Given the description of an element on the screen output the (x, y) to click on. 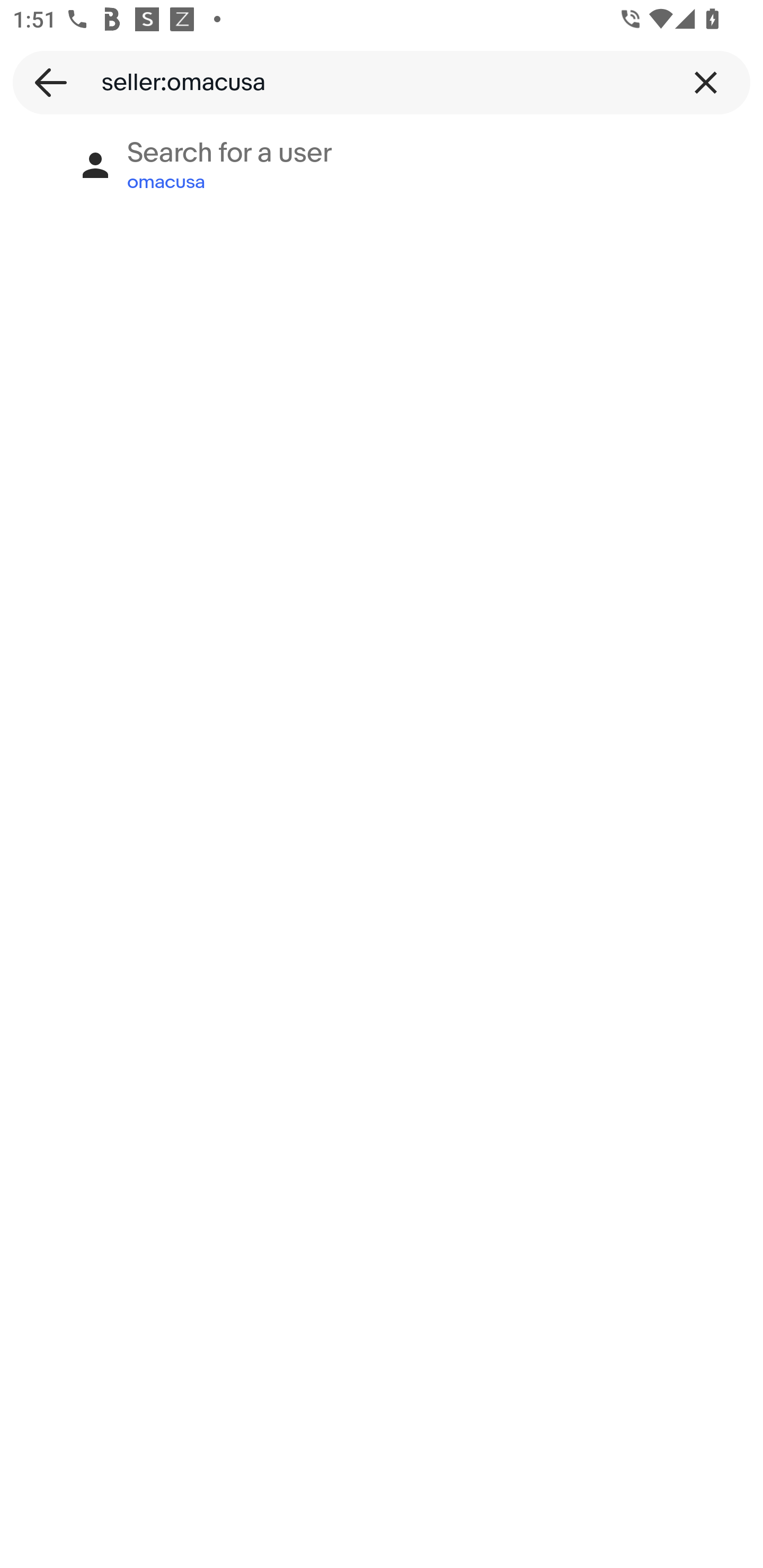
Back (44, 82)
Clear query (705, 82)
seller:omacusa  (381, 82)
Search for a user
omacusa (381, 165)
